Given the description of an element on the screen output the (x, y) to click on. 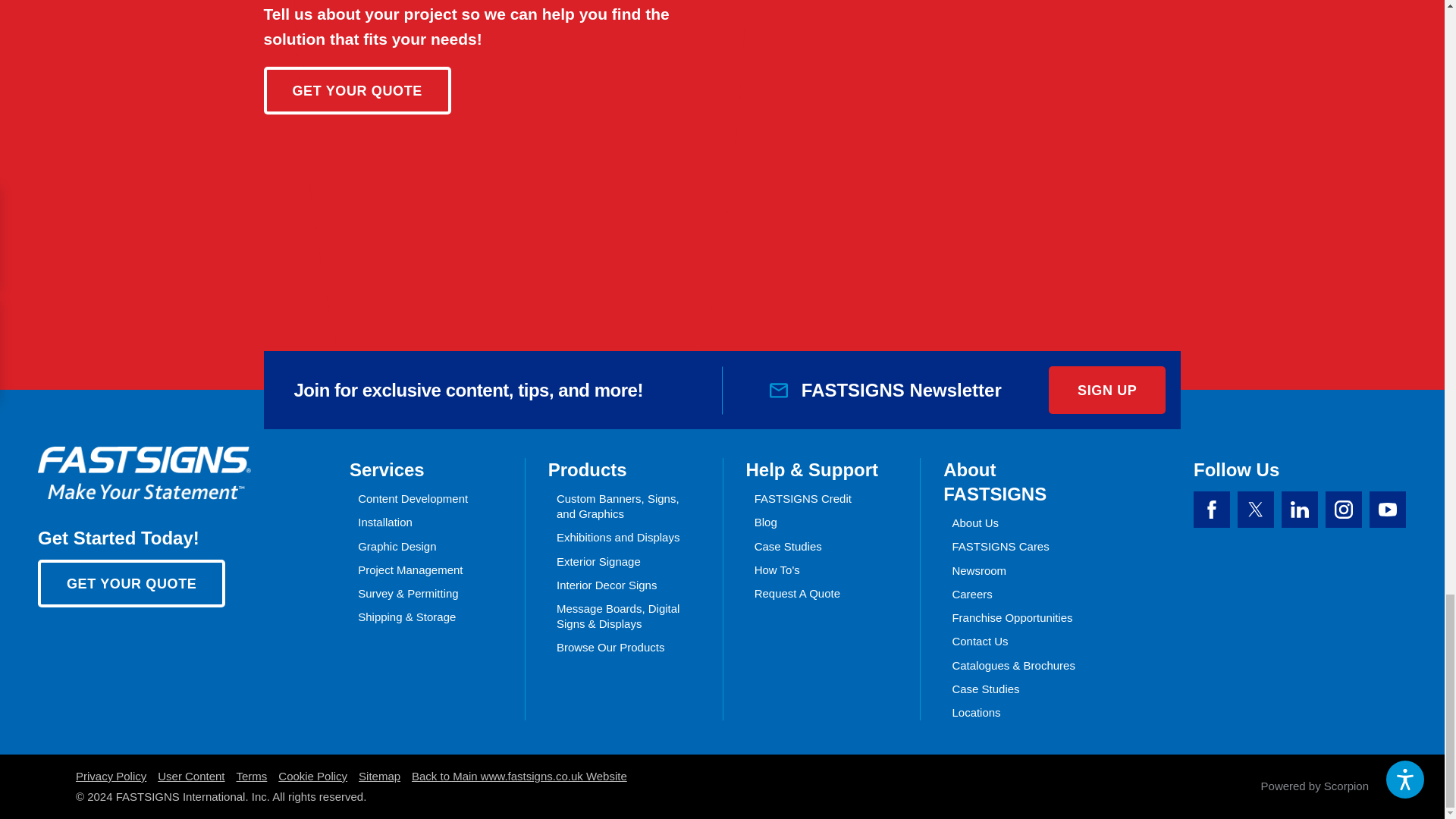
Facebook (1211, 509)
LinkedIn (1299, 509)
Instagram (1342, 509)
Twitter (1255, 509)
YouTube (1388, 509)
